Given the description of an element on the screen output the (x, y) to click on. 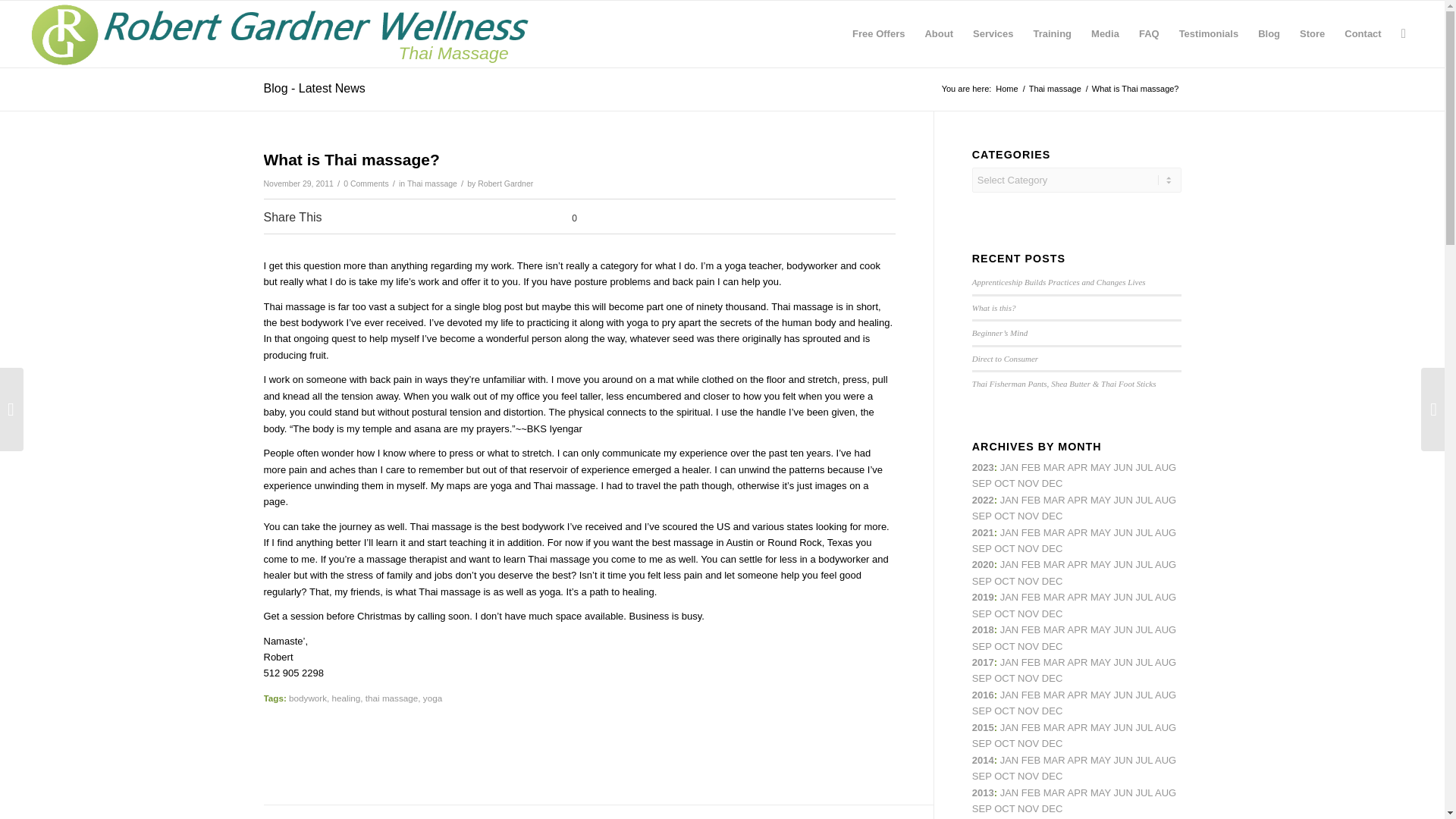
Robert Gardner Wellness Header (285, 33)
Permanent Link: Blog - Latest News (314, 88)
Thai massage (432, 183)
yoga (432, 697)
healing (346, 697)
0 (550, 218)
Be the first one to tweet this article! (416, 218)
bodywork (307, 697)
Free Offers (878, 33)
0 Comments (365, 183)
